Given the description of an element on the screen output the (x, y) to click on. 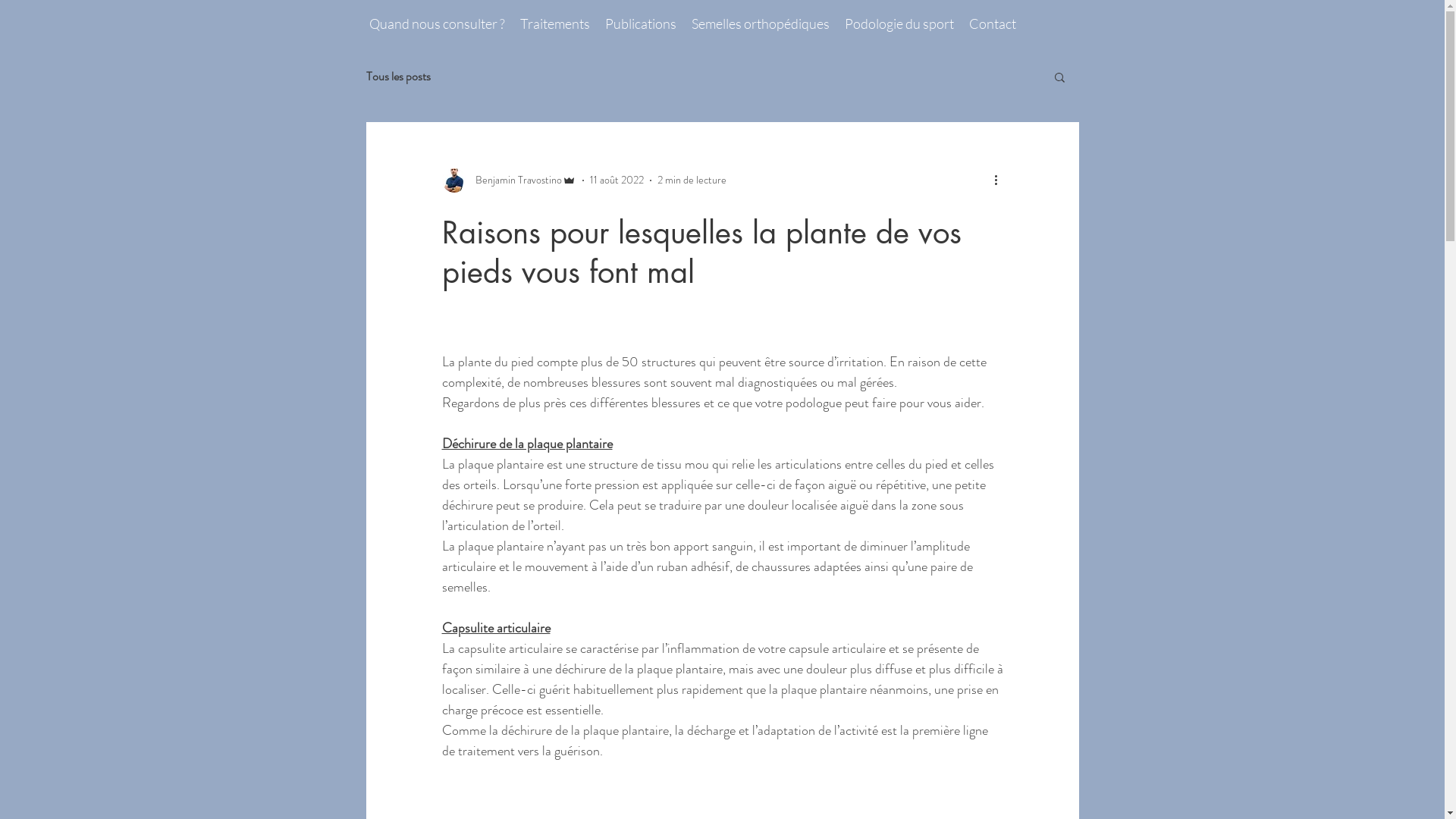
Tous les posts Element type: text (397, 75)
Publications Element type: text (640, 23)
Quand nous consulter ? Element type: text (435, 23)
Contact Element type: text (992, 23)
Podologie du sport Element type: text (899, 23)
Traitements Element type: text (554, 23)
